Given the description of an element on the screen output the (x, y) to click on. 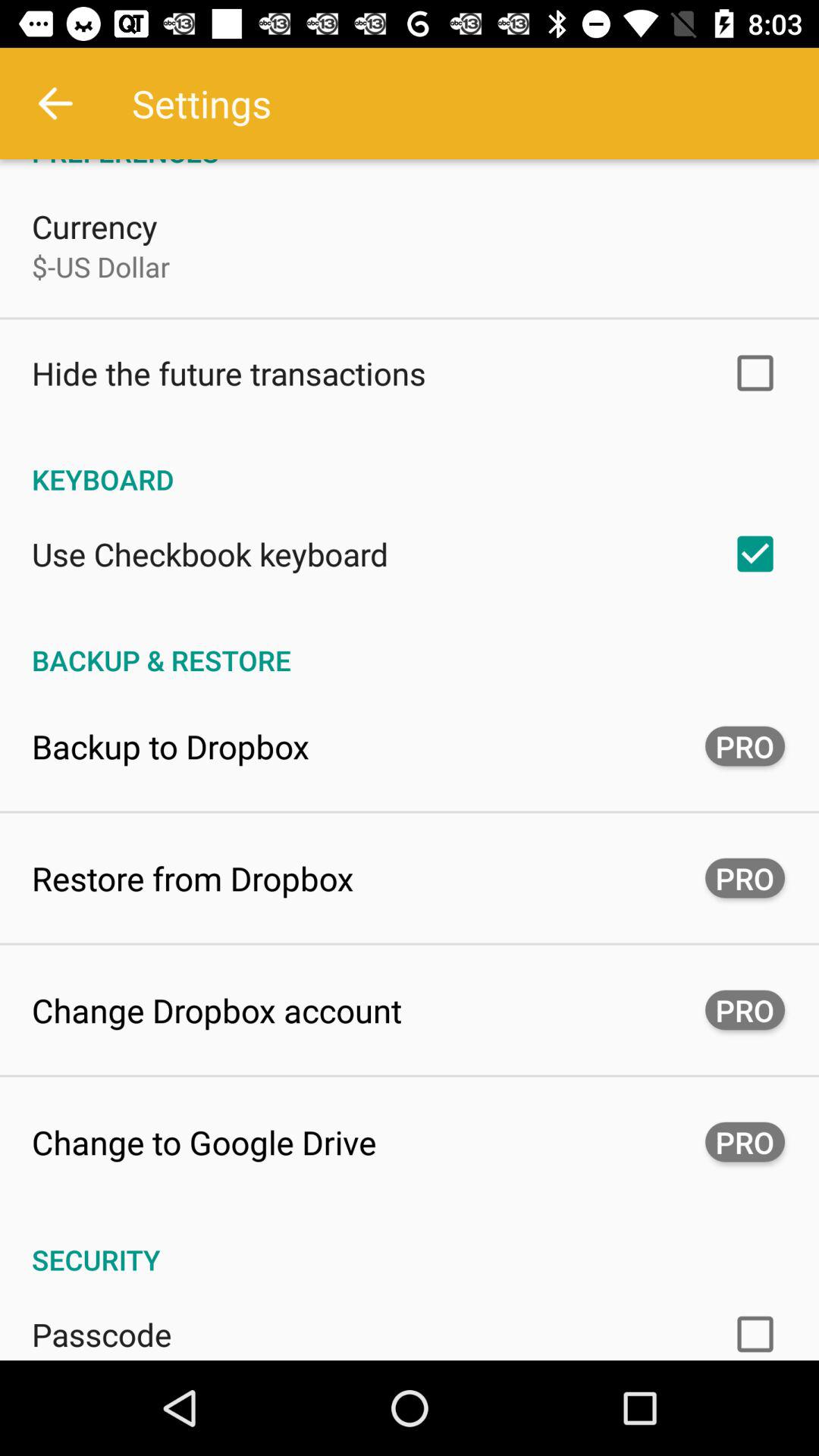
tap button next to pro icon (192, 877)
